Given the description of an element on the screen output the (x, y) to click on. 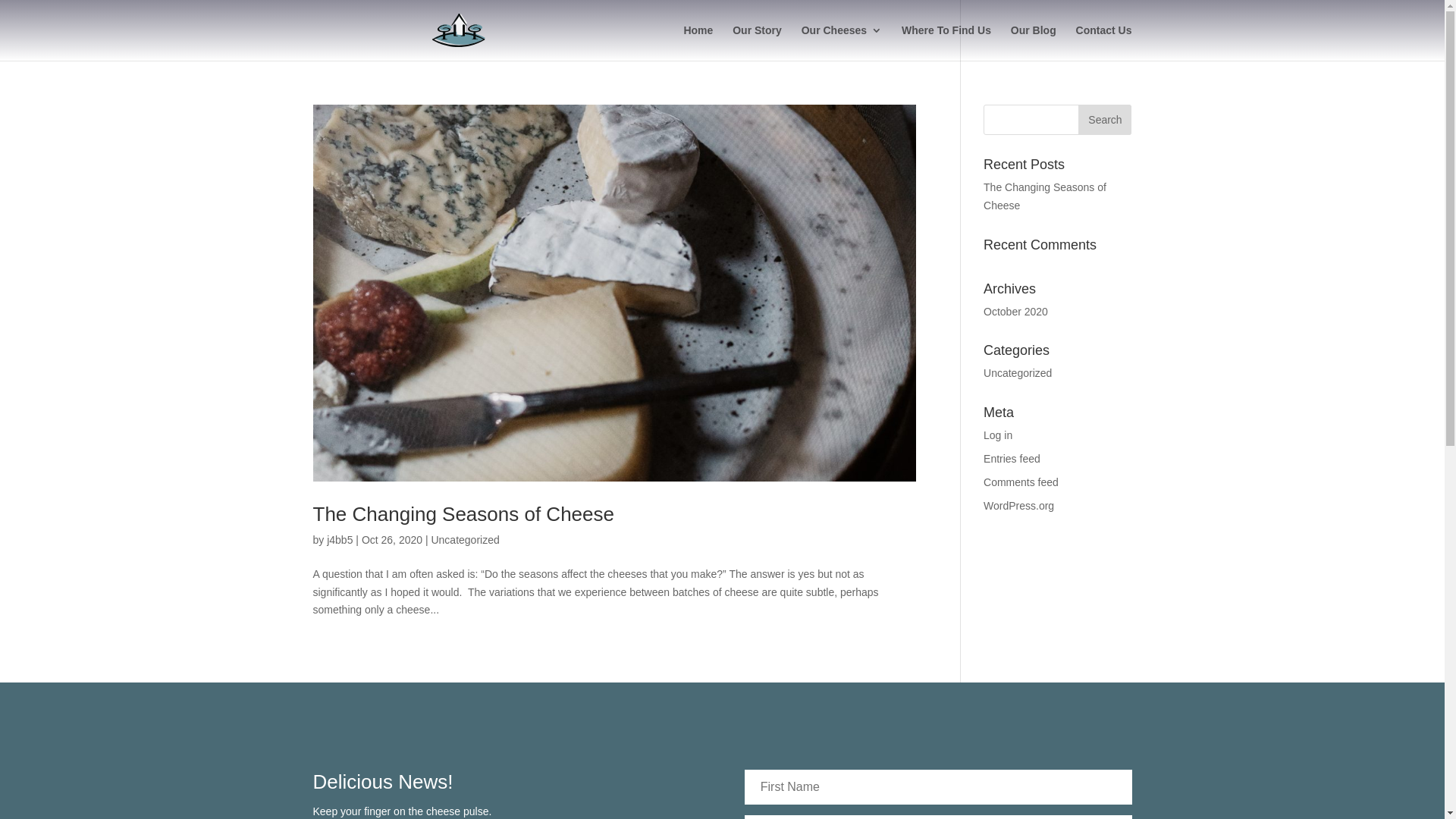
Comments feed Element type: text (1020, 482)
October 2020 Element type: text (1015, 311)
The Changing Seasons of Cheese Element type: text (463, 513)
Our Blog Element type: text (1033, 42)
j4bb5 Element type: text (339, 539)
Uncategorized Element type: text (464, 539)
Entries feed Element type: text (1011, 458)
WordPress.org Element type: text (1018, 505)
Our Story Element type: text (756, 42)
Uncategorized Element type: text (1017, 373)
Log in Element type: text (997, 435)
Search Element type: text (1104, 119)
Contact Us Element type: text (1104, 42)
Our Cheeses Element type: text (841, 42)
The Changing Seasons of Cheese Element type: text (1044, 196)
Where To Find Us Element type: text (946, 42)
Home Element type: text (697, 42)
